Given the description of an element on the screen output the (x, y) to click on. 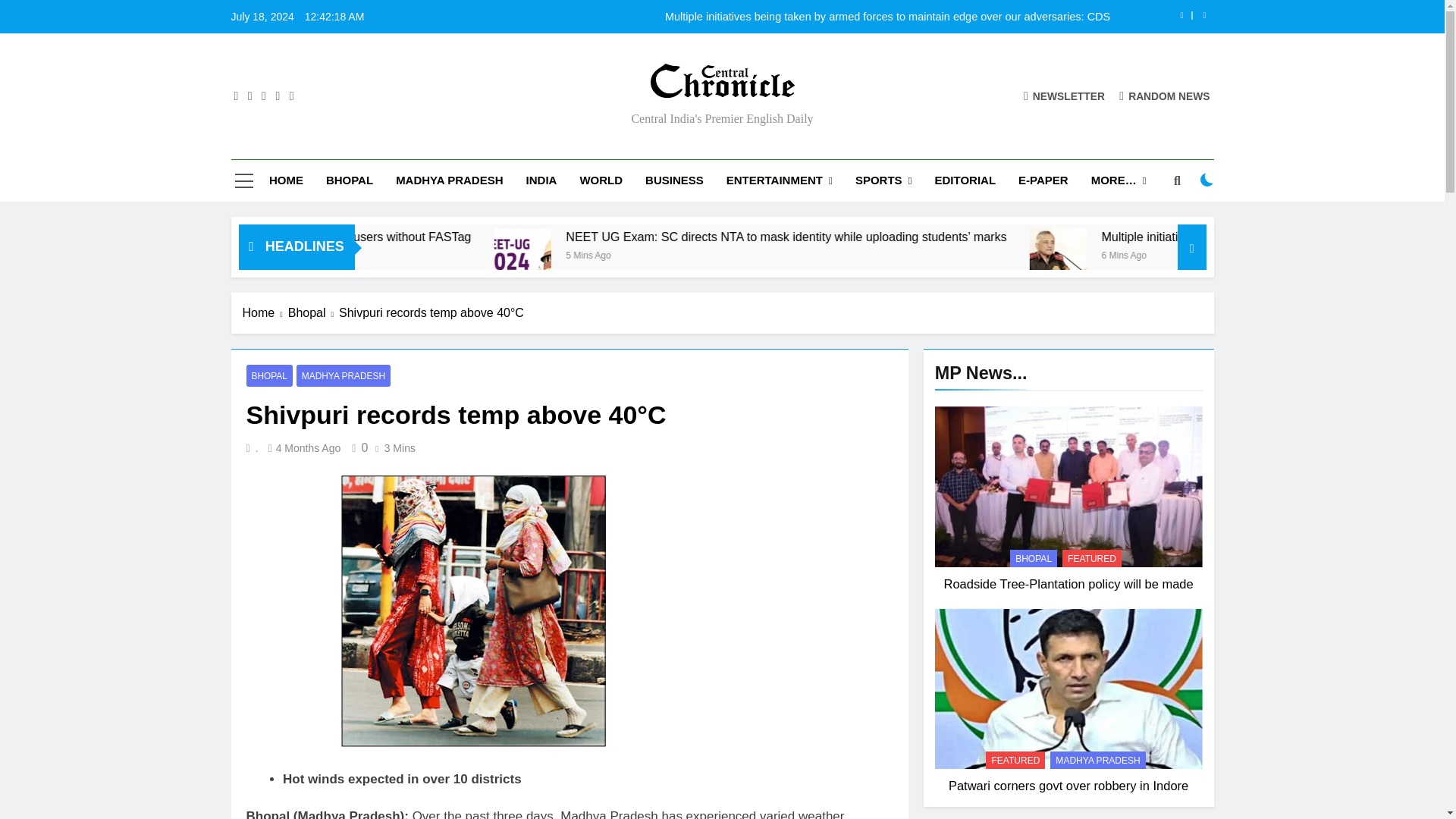
RANDOM NEWS (1164, 95)
SPORTS (883, 180)
HOME (285, 179)
Central India'S Premier English Daily (560, 109)
ENTERTAINMENT (779, 180)
on (1206, 179)
BUSINESS (673, 179)
INDIA (542, 179)
NEWSLETTER (1064, 95)
WORLD (600, 179)
NHAI to charge double toll from vehicle users without FASTag (462, 237)
BHOPAL (349, 179)
